Given the description of an element on the screen output the (x, y) to click on. 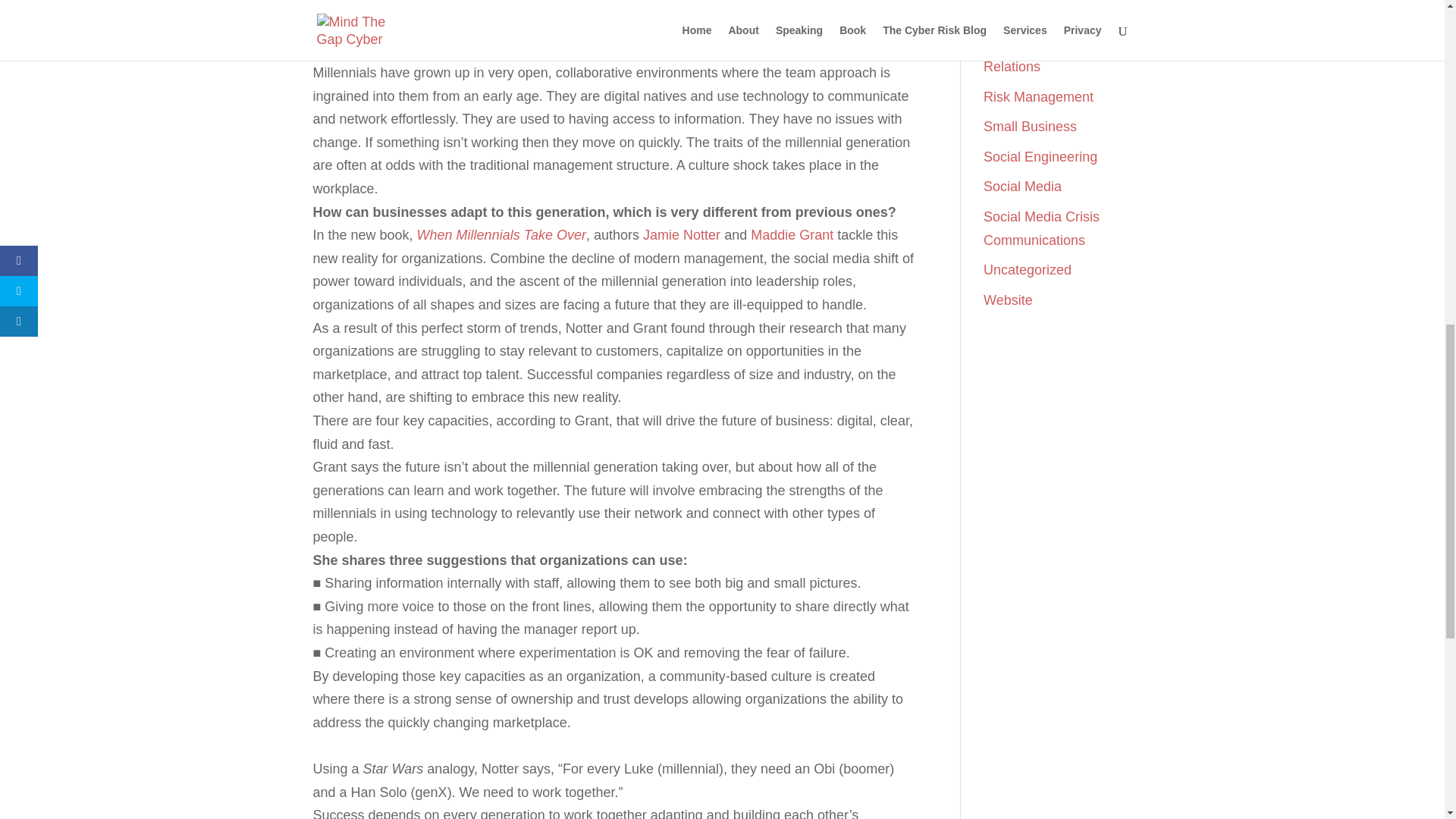
When Millennials Take Over (501, 234)
Reputation Management (1023, 10)
Maddie Grant (791, 234)
Jamie Notter (681, 234)
